Given the description of an element on the screen output the (x, y) to click on. 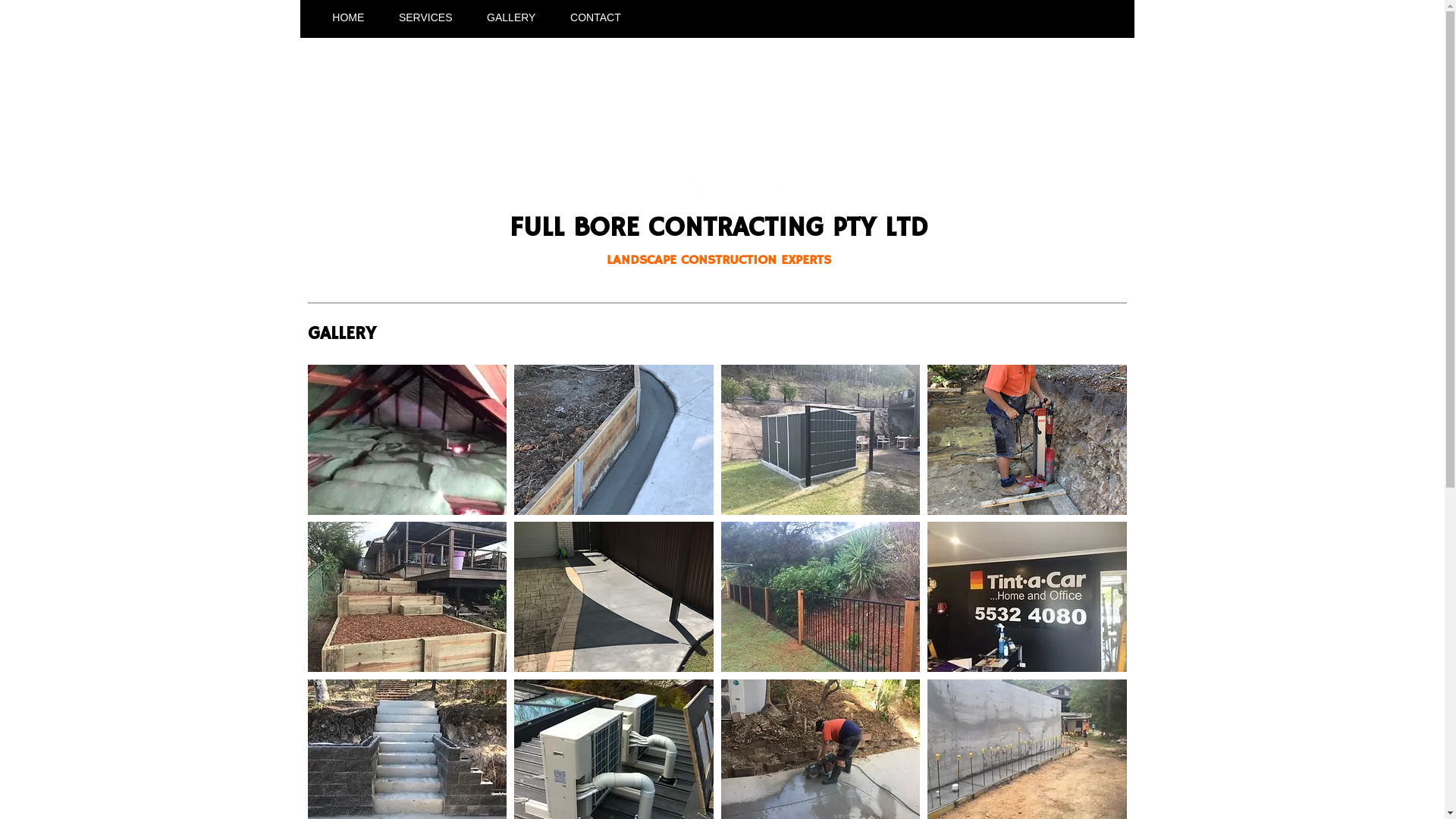
HOME Element type: text (348, 17)
GALLERY Element type: text (510, 17)
SERVICES Element type: text (425, 17)
CONTACT Element type: text (594, 17)
